Given the description of an element on the screen output the (x, y) to click on. 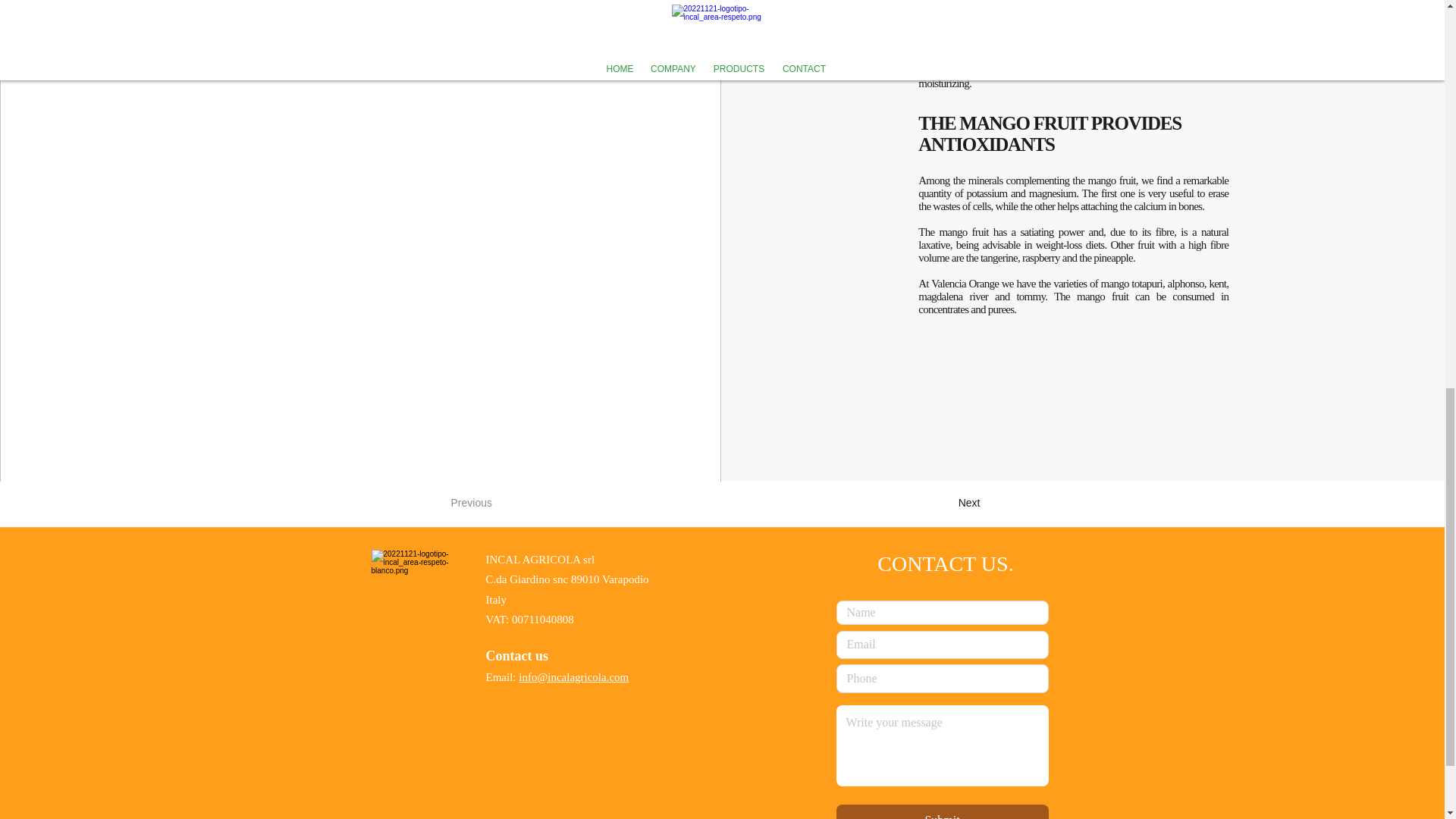
Next (941, 503)
Previous (499, 503)
Submit (941, 811)
